Given the description of an element on the screen output the (x, y) to click on. 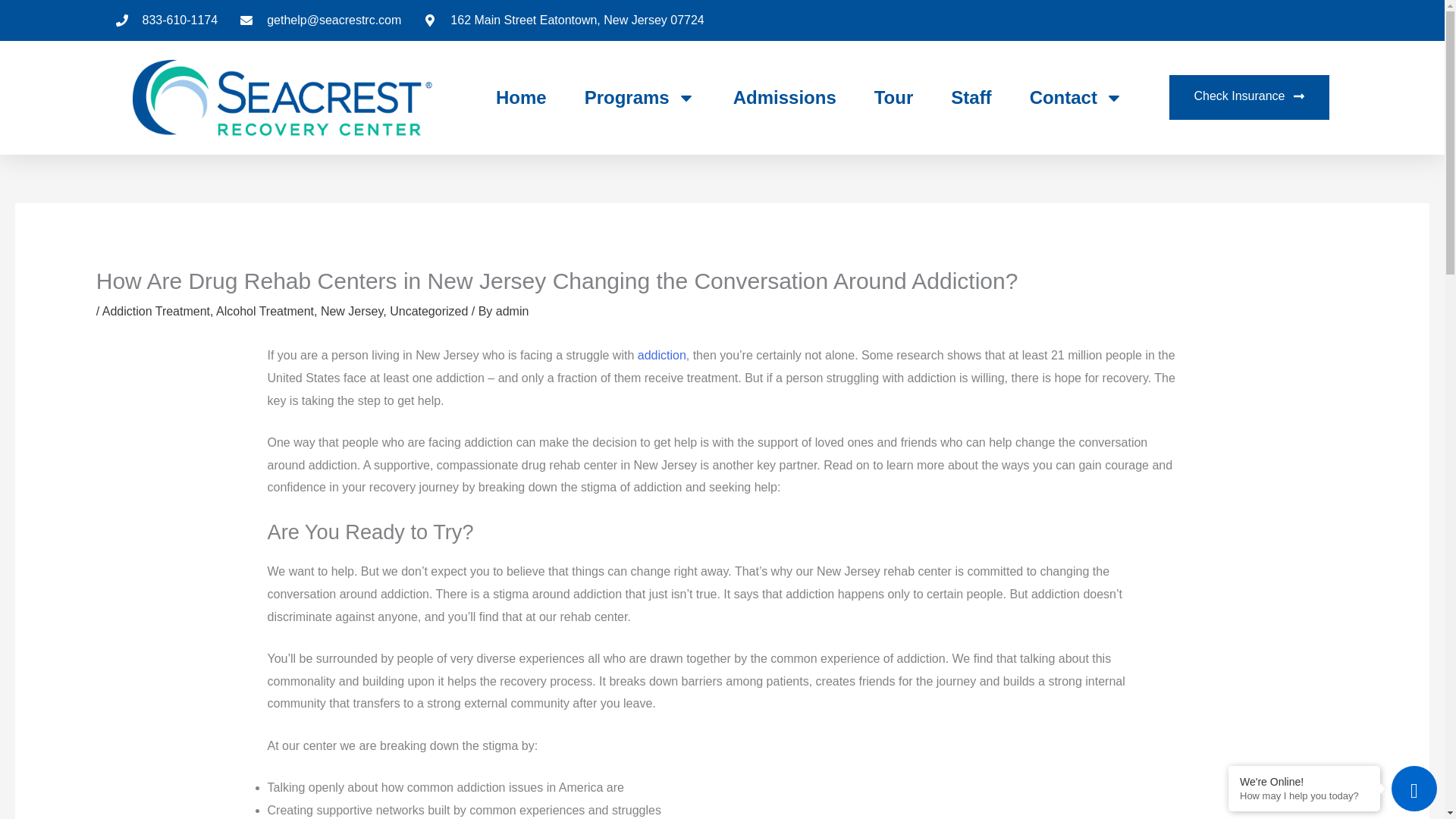
View all posts by admin (512, 310)
How may I help you today? (1304, 795)
We're Online! (1304, 781)
833-610-1174 (165, 20)
Programs (640, 97)
Tour (894, 97)
Check Insurance (1248, 97)
Admissions (784, 97)
Contact (1075, 97)
Home (521, 97)
Staff (970, 97)
